Given the description of an element on the screen output the (x, y) to click on. 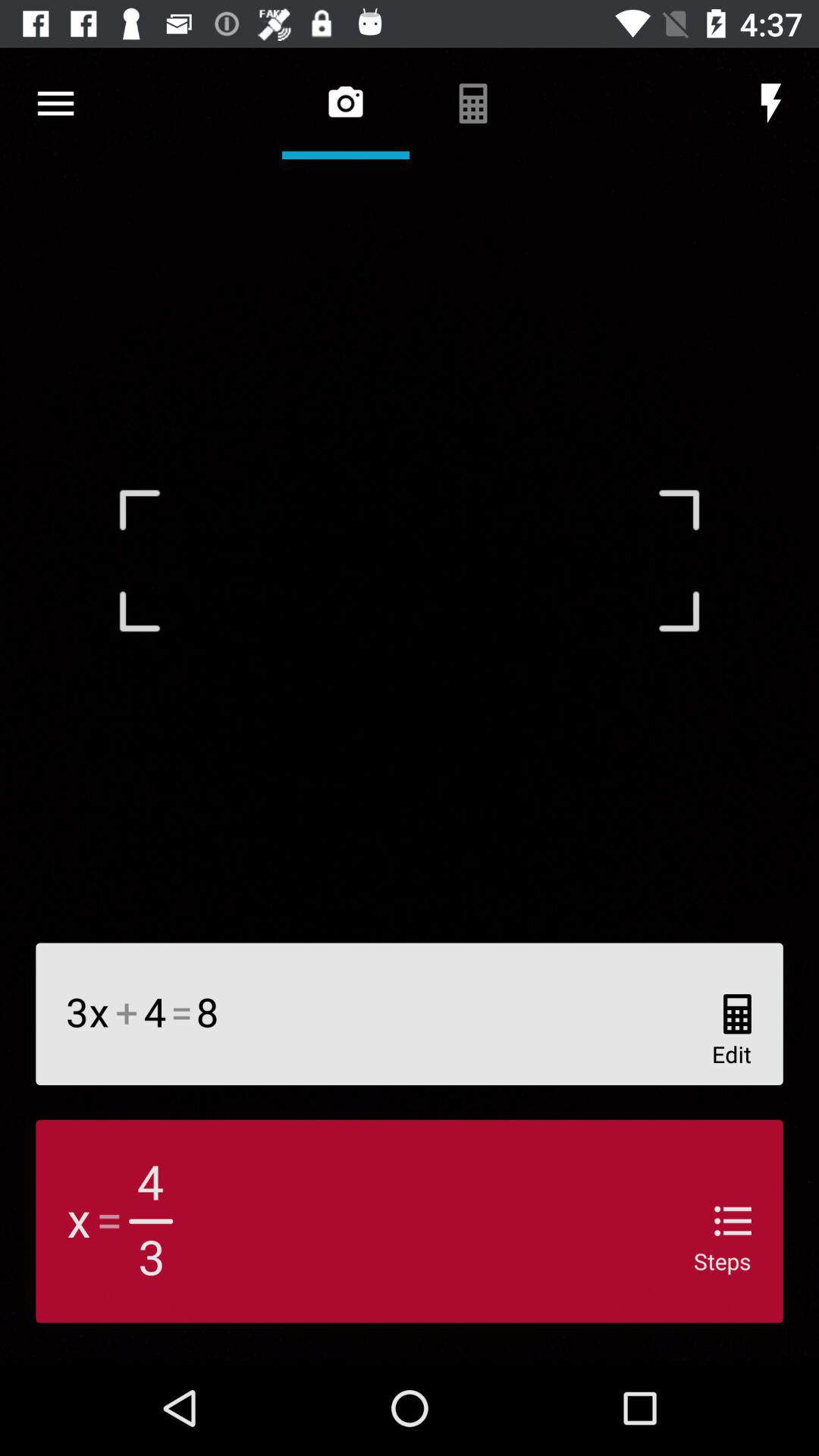
go to menu bar (55, 103)
